Given the description of an element on the screen output the (x, y) to click on. 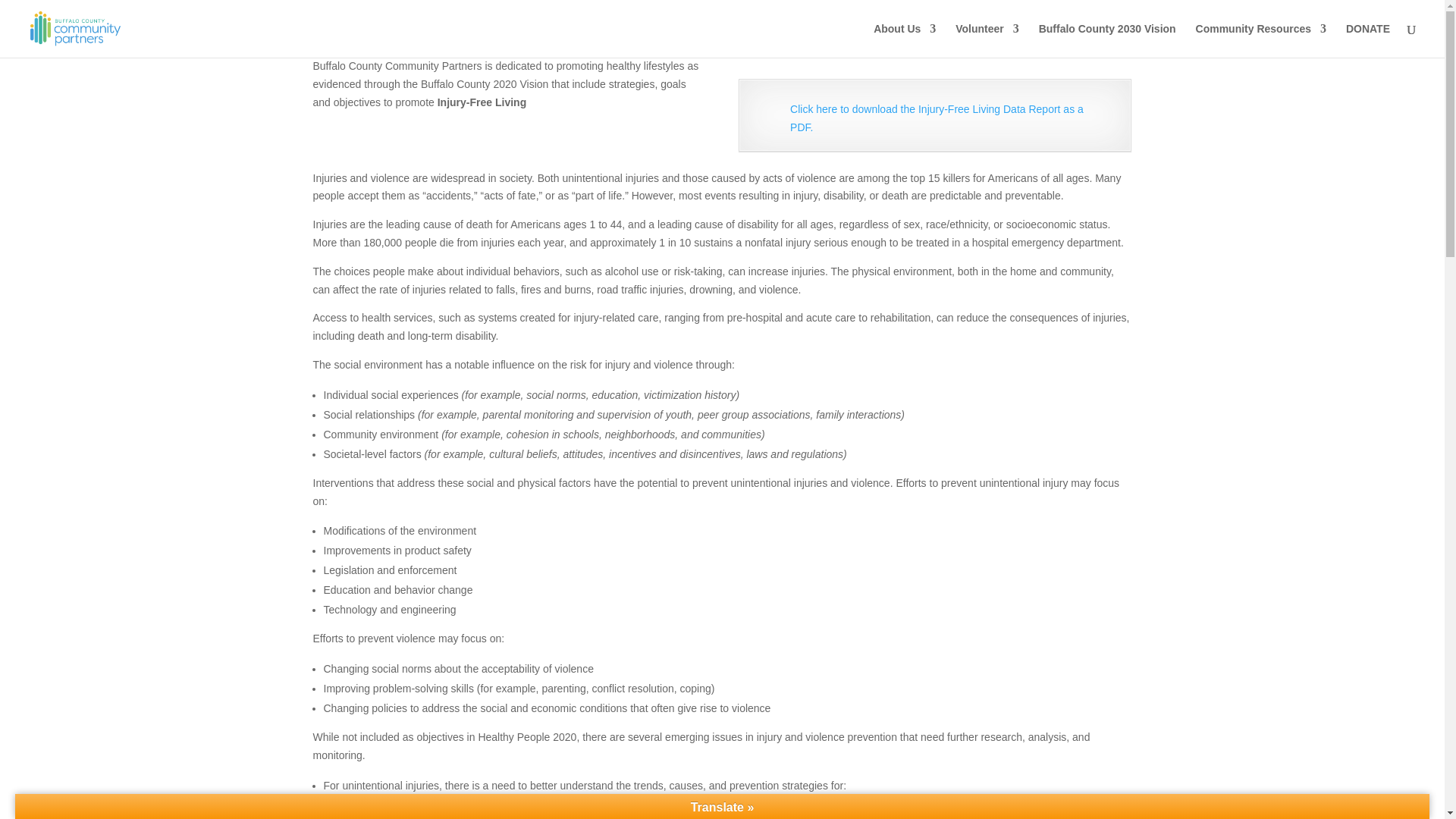
DONATE (1367, 40)
About Us (904, 40)
Buffalo County 2030 Vision (1107, 40)
Volunteer (987, 40)
Community Resources (1260, 40)
